Given the description of an element on the screen output the (x, y) to click on. 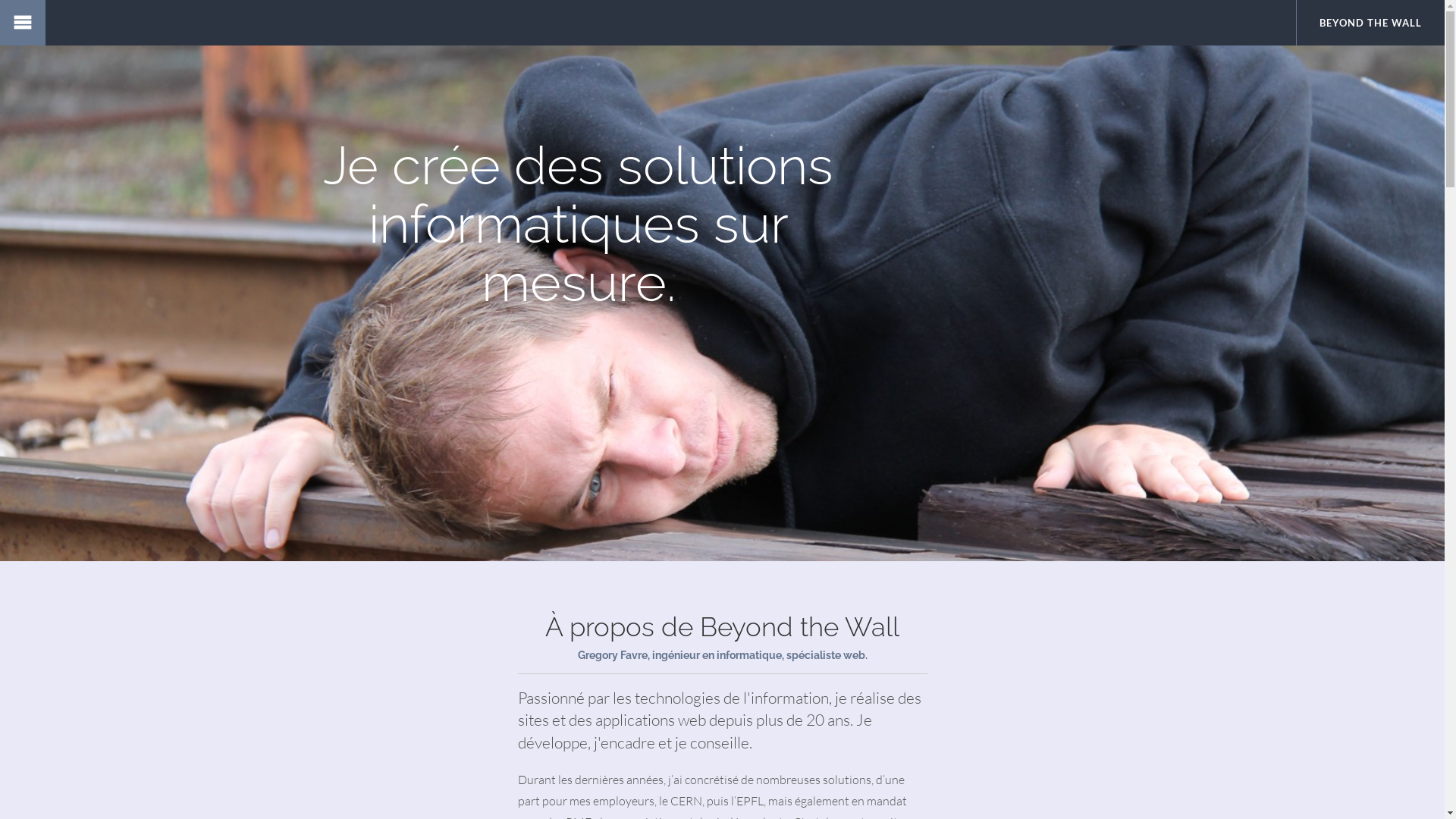
BEYOND THE WALL Element type: text (1370, 22)
